Given the description of an element on the screen output the (x, y) to click on. 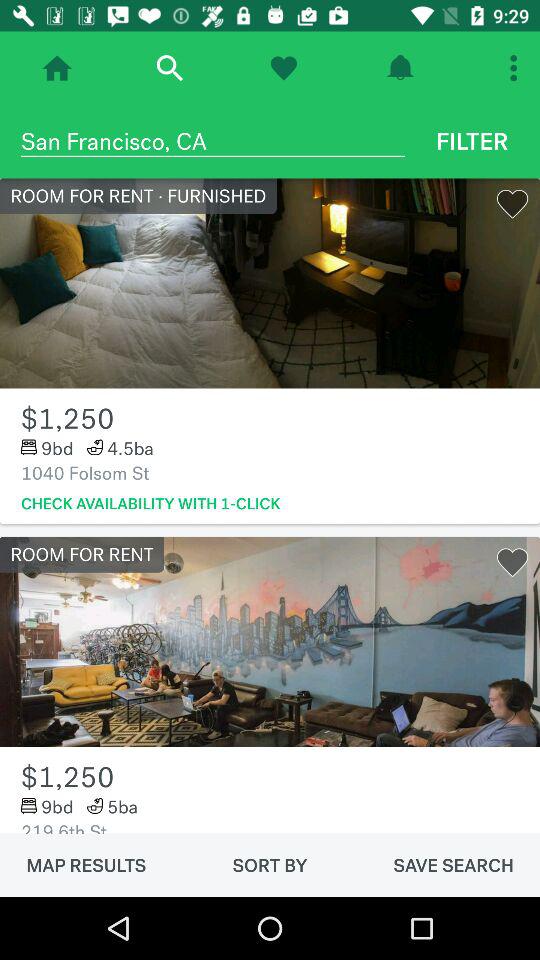
favorite button (283, 68)
